Given the description of an element on the screen output the (x, y) to click on. 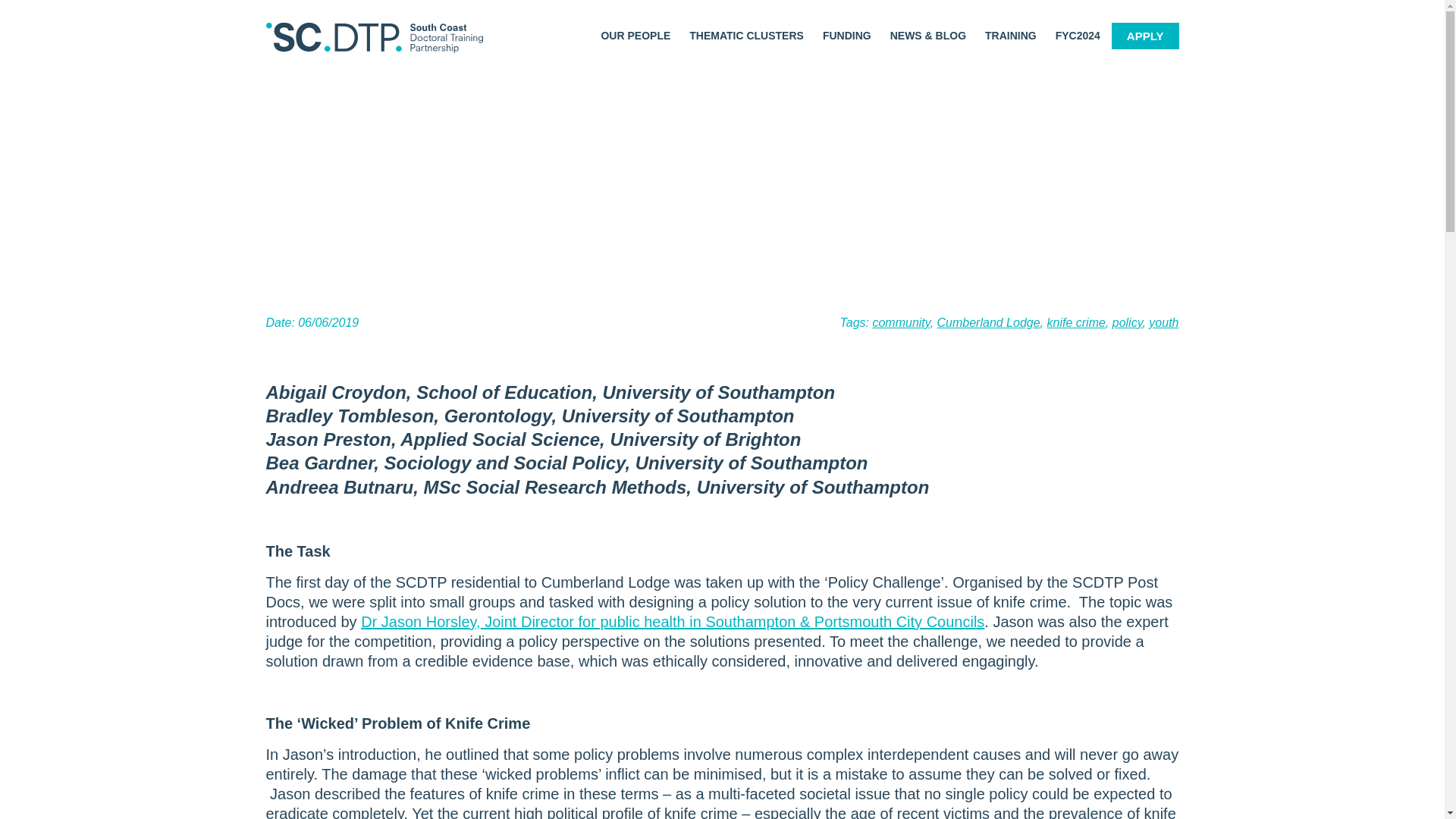
THEMATIC CLUSTERS (745, 35)
OUR PEOPLE (635, 35)
FUNDING (847, 35)
